Given the description of an element on the screen output the (x, y) to click on. 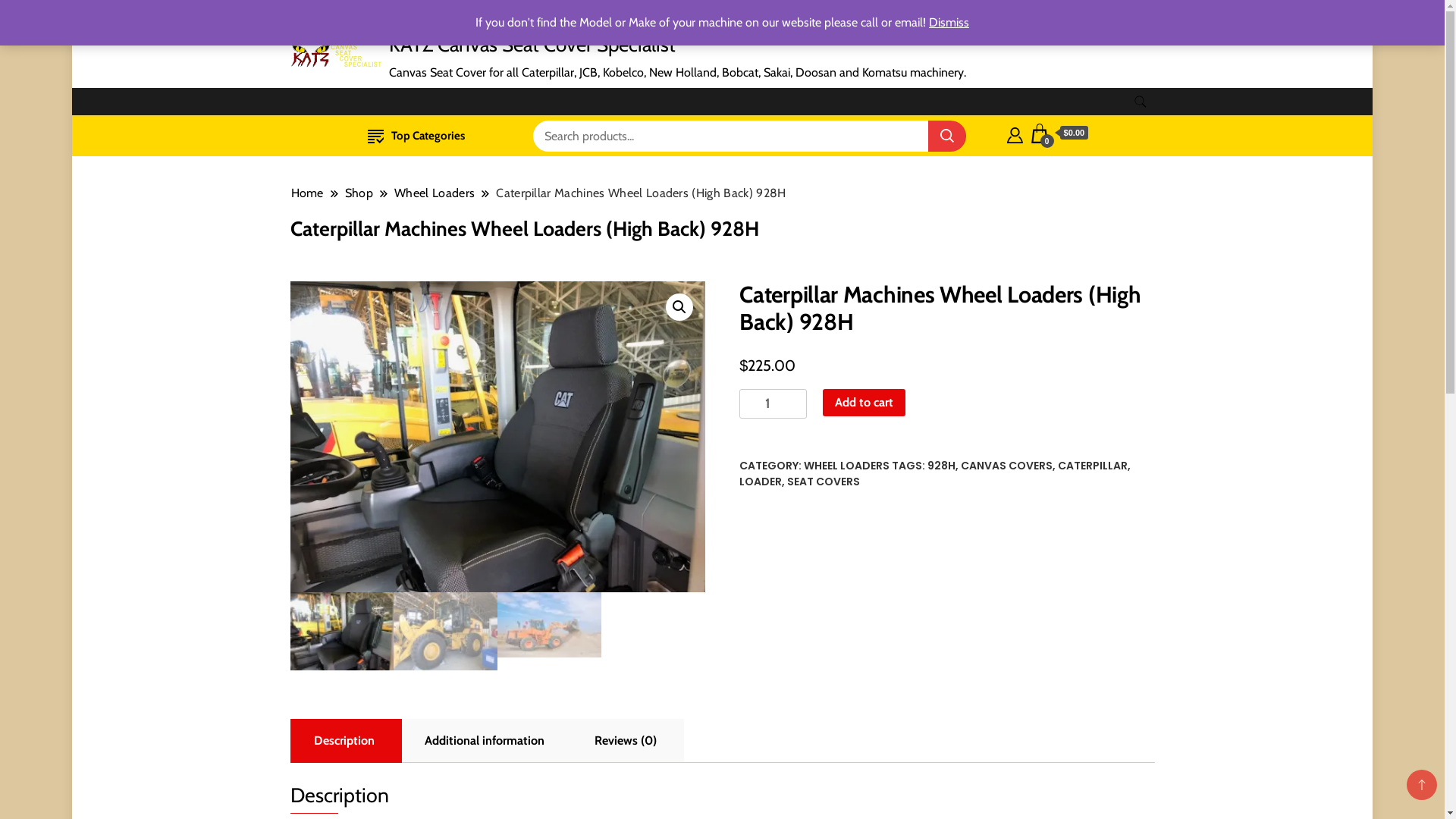
Dismiss Element type: text (948, 22)
CATERPILLAR Element type: text (1092, 465)
Additional information Element type: text (484, 740)
Caterpillar Machines Wheel Loaders (High Back) 928H Element type: text (640, 192)
CANVAS COVERS Element type: text (1006, 465)
Reviews (0) Element type: text (625, 740)
Description Element type: text (343, 740)
Home Element type: text (306, 192)
Shop Element type: text (358, 192)
LOADER Element type: text (760, 481)
KATZ Canvas Seat Cover Specialist Element type: text (531, 44)
canvas seat cover Loader Element type: hover (496, 436)
SEAT COVERS Element type: text (823, 481)
My Account Element type: hover (1014, 133)
928H Element type: text (941, 465)
Wheel Loaders Element type: text (434, 192)
0
$0.00 Element type: text (1058, 133)
Top Categories Element type: text (416, 135)
WHEEL LOADERS Element type: text (846, 465)
Add to cart Element type: text (863, 402)
